Given the description of an element on the screen output the (x, y) to click on. 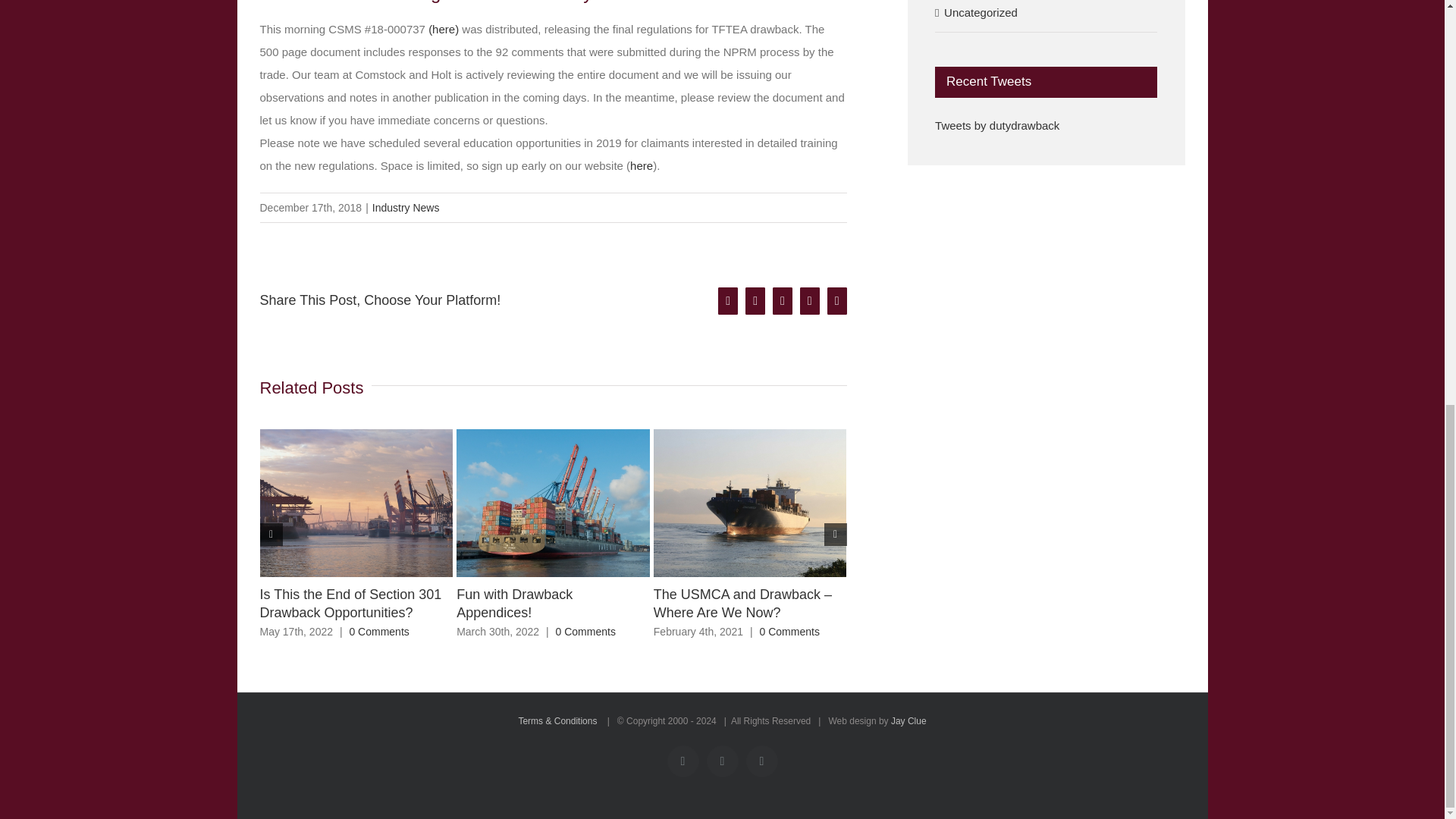
Is This the End of Section 301 Drawback Opportunities? (350, 603)
Fun with Drawback Appendices! (514, 603)
